Given the description of an element on the screen output the (x, y) to click on. 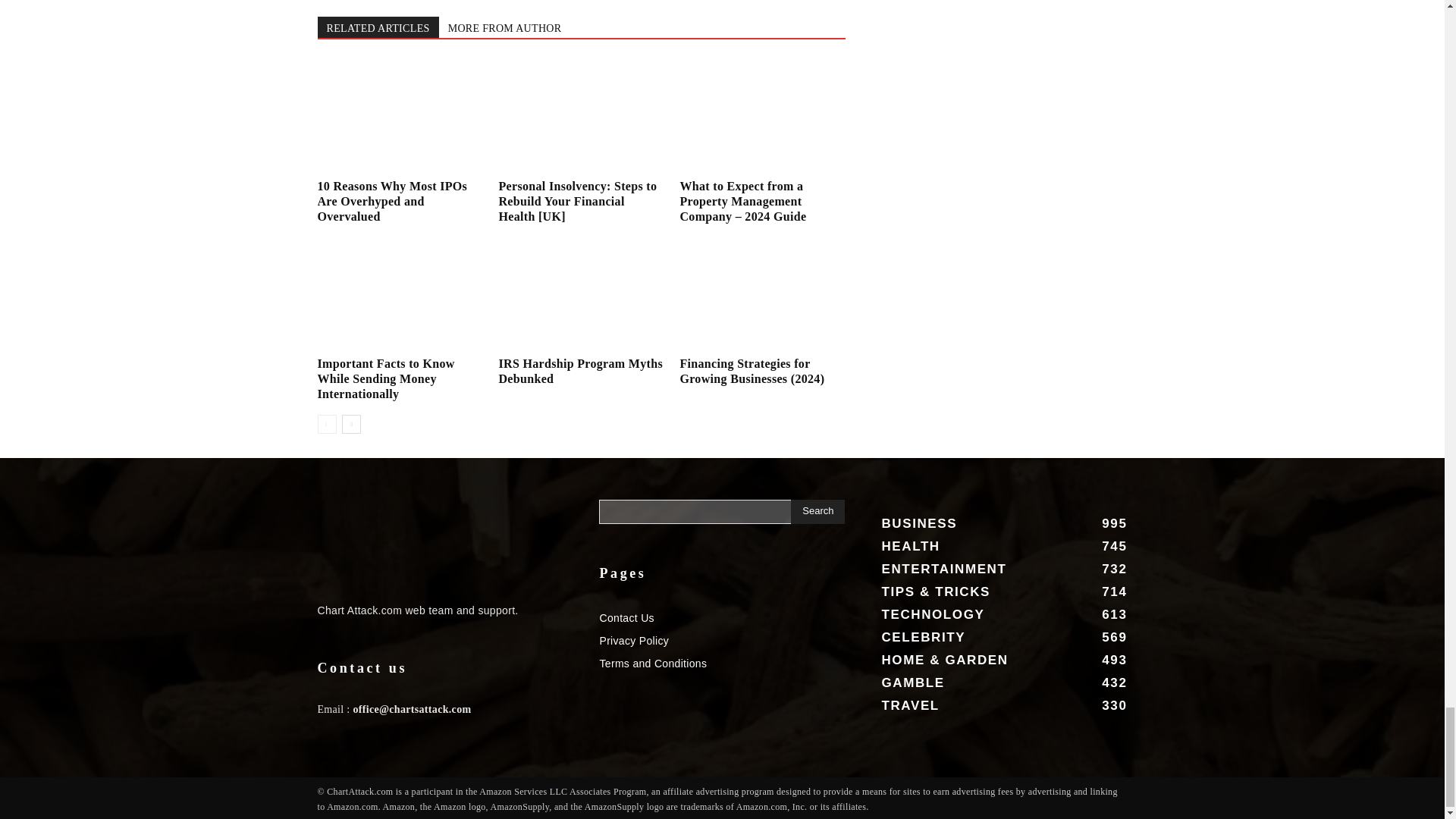
10 Reasons Why Most IPOs Are Overhyped and Overvalued (399, 116)
10 Reasons Why Most IPOs Are Overhyped and Overvalued (392, 200)
Search (817, 511)
